Given the description of an element on the screen output the (x, y) to click on. 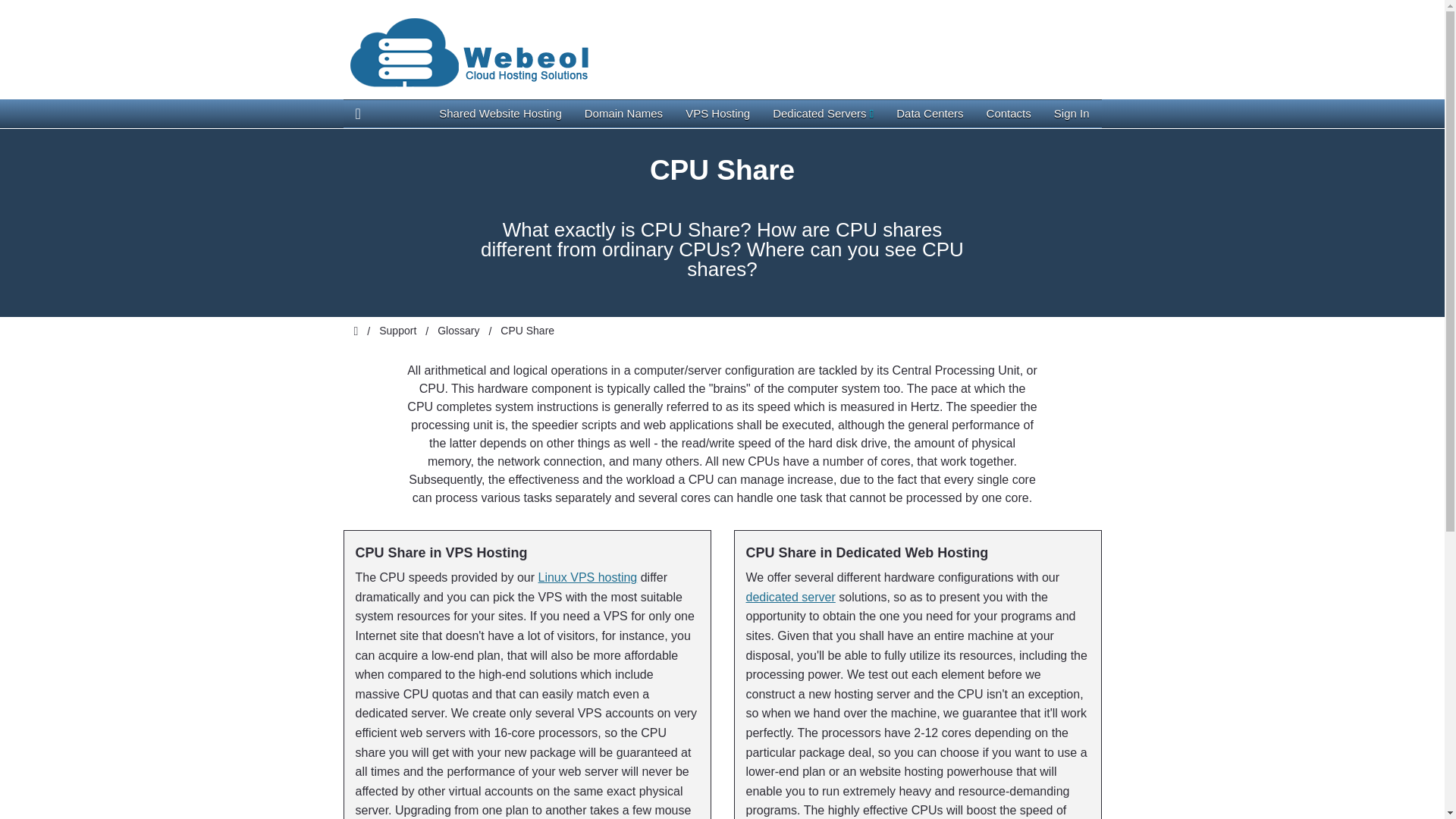
dedicated servers hosting packages (790, 596)
VPS Hosting (717, 113)
Linux VPS hosting (587, 576)
Webeol Hosting (493, 53)
Domain Names (623, 113)
Shared Website Hosting (500, 113)
